Given the description of an element on the screen output the (x, y) to click on. 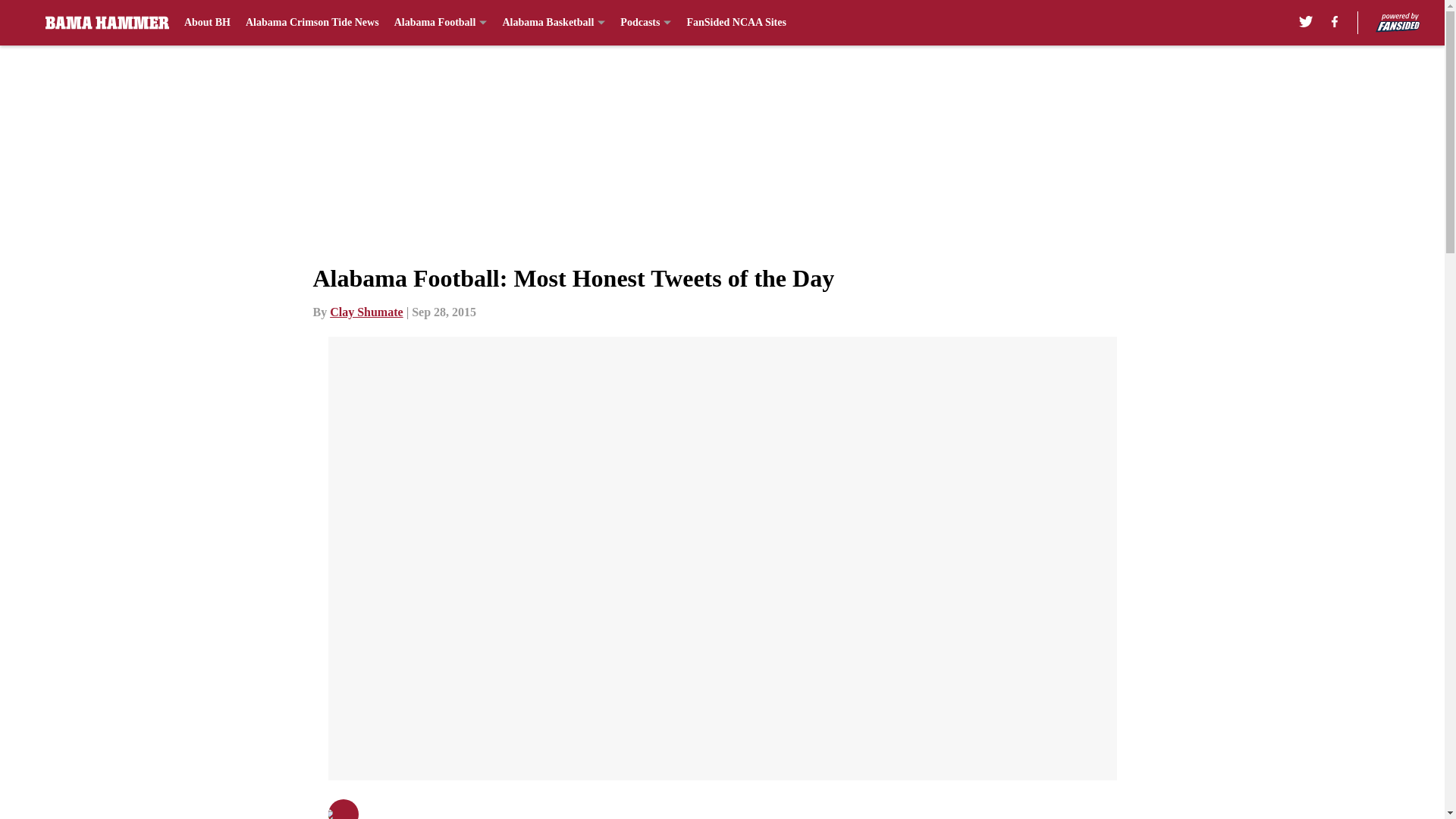
FanSided NCAA Sites (735, 22)
Clay Shumate (366, 311)
Alabama Crimson Tide News (312, 22)
About BH (207, 22)
